Given the description of an element on the screen output the (x, y) to click on. 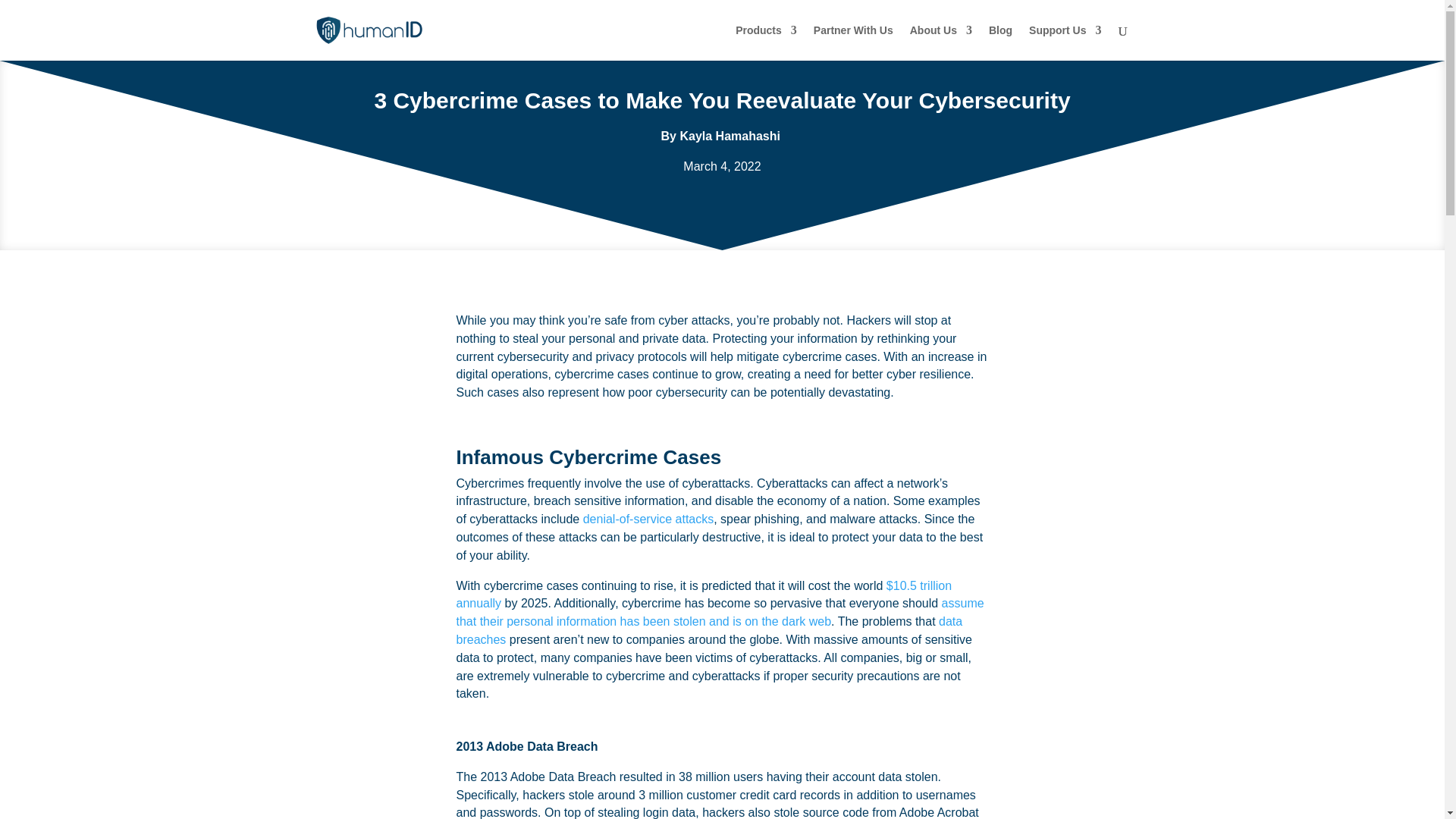
Partner With Us (853, 42)
data breaches (709, 630)
About Us (941, 42)
Products (765, 42)
denial-of-service attacks (648, 518)
Support Us (1064, 42)
